Given the description of an element on the screen output the (x, y) to click on. 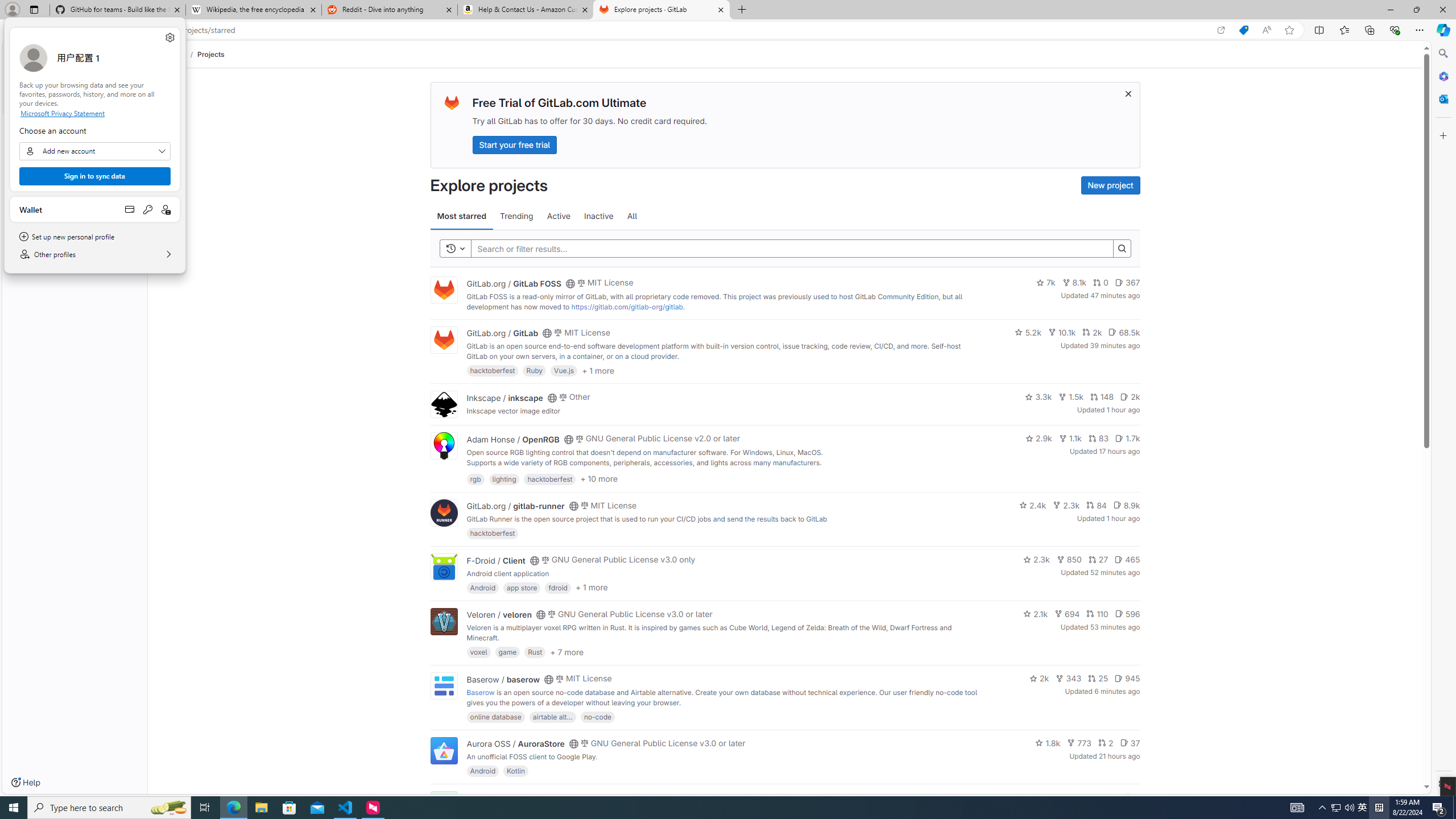
Open passwords (147, 208)
110 (1097, 613)
68.5k (1124, 331)
596 (1127, 613)
148 (1101, 396)
GitLab.org / gitlab-runner (514, 506)
Most starred (461, 216)
945 (1127, 678)
